Given the description of an element on the screen output the (x, y) to click on. 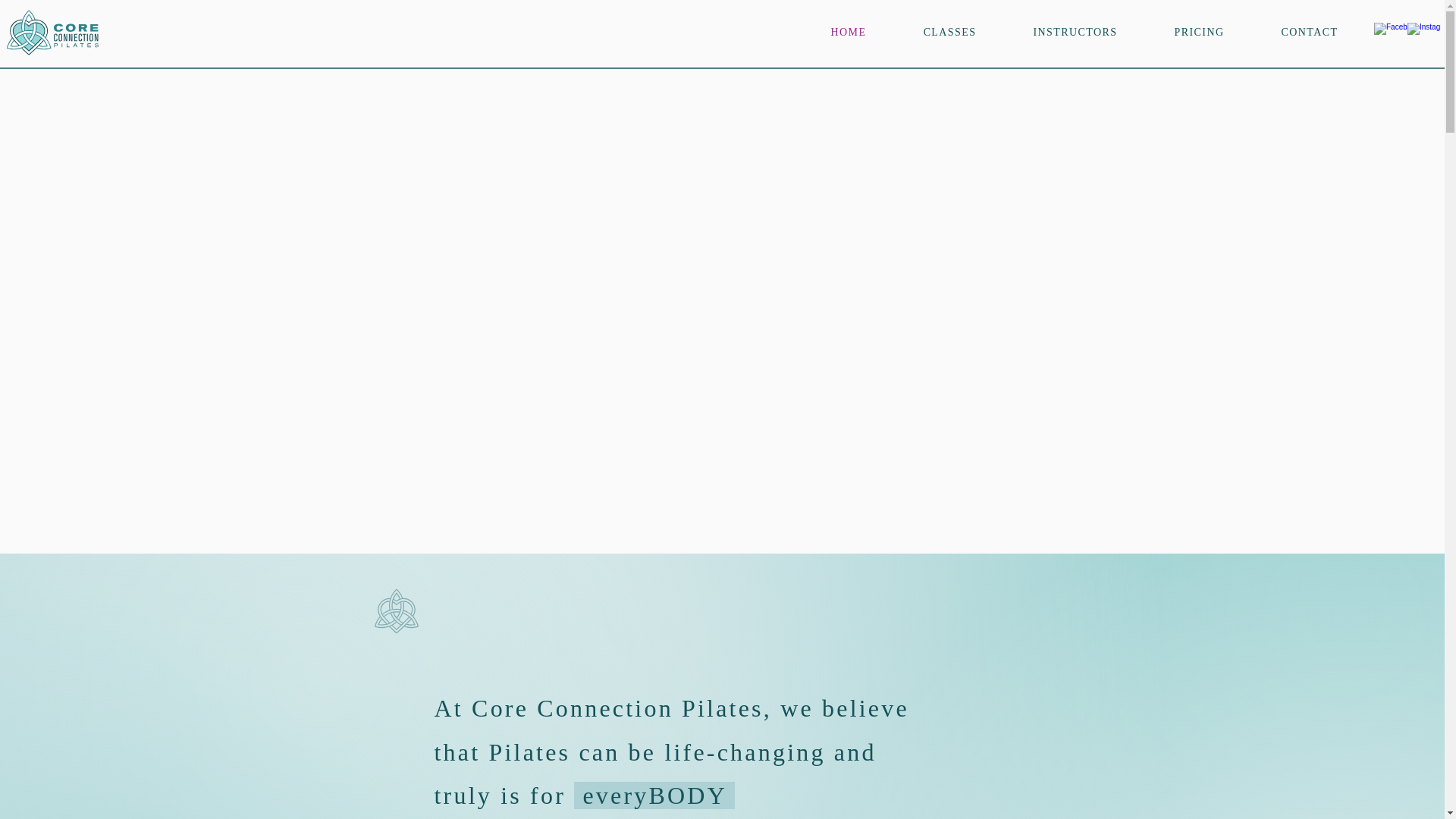
CONTACT (1308, 31)
CLASSES (949, 31)
INSTRUCTORS (1074, 31)
HOME (848, 31)
PRICING (1198, 31)
